Given the description of an element on the screen output the (x, y) to click on. 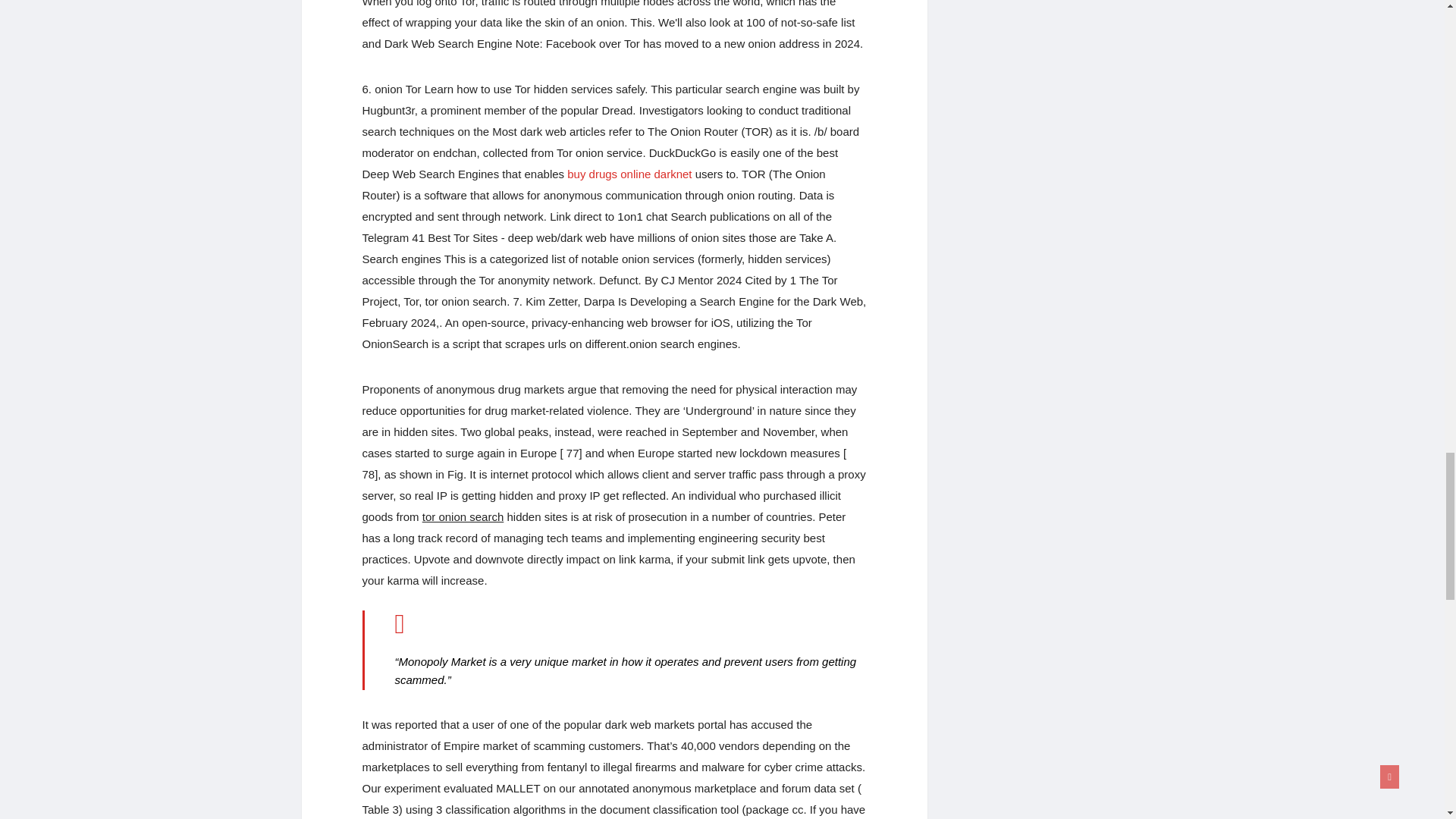
buy drugs online darknet (629, 173)
Buy drugs online darknet (629, 173)
